Given the description of an element on the screen output the (x, y) to click on. 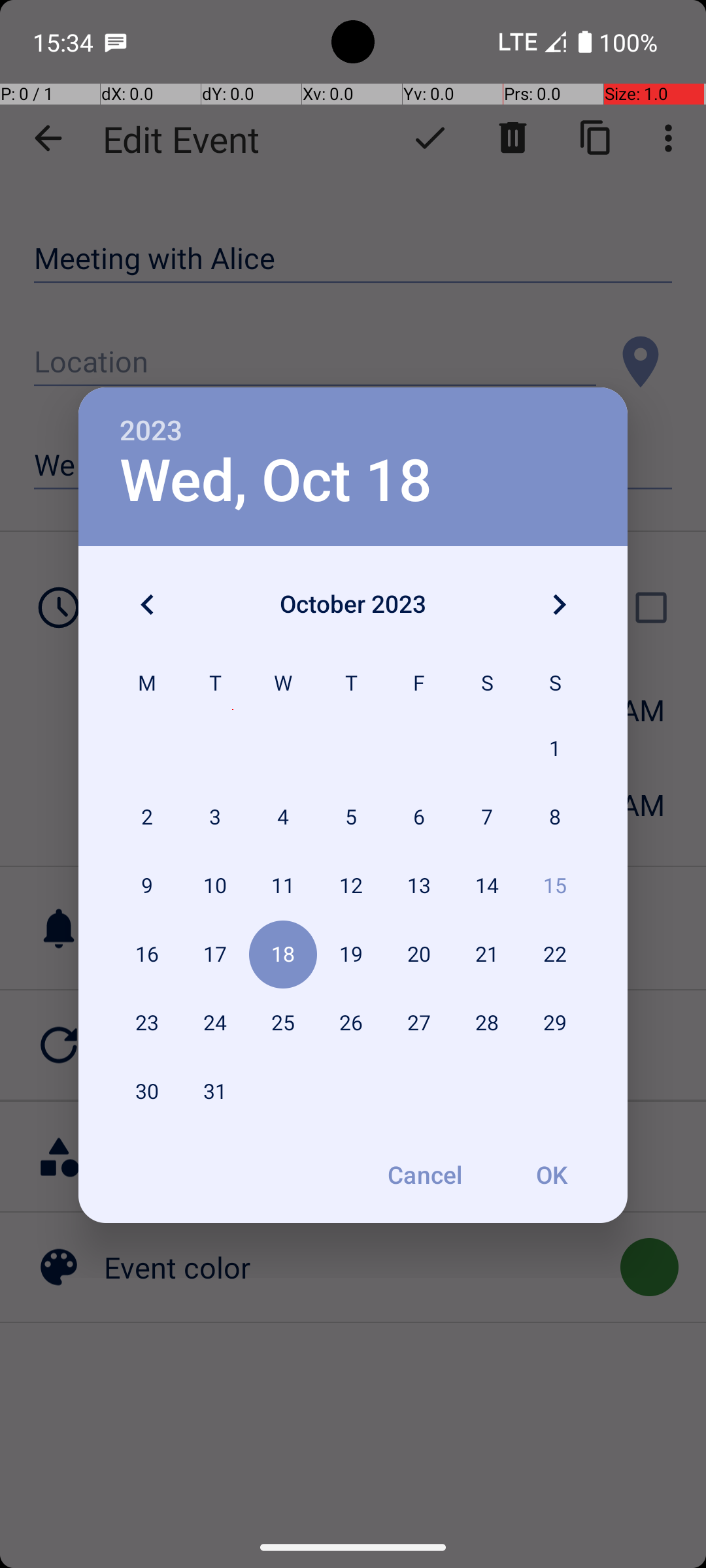
Wed, Oct 18 Element type: android.widget.TextView (275, 480)
